Given the description of an element on the screen output the (x, y) to click on. 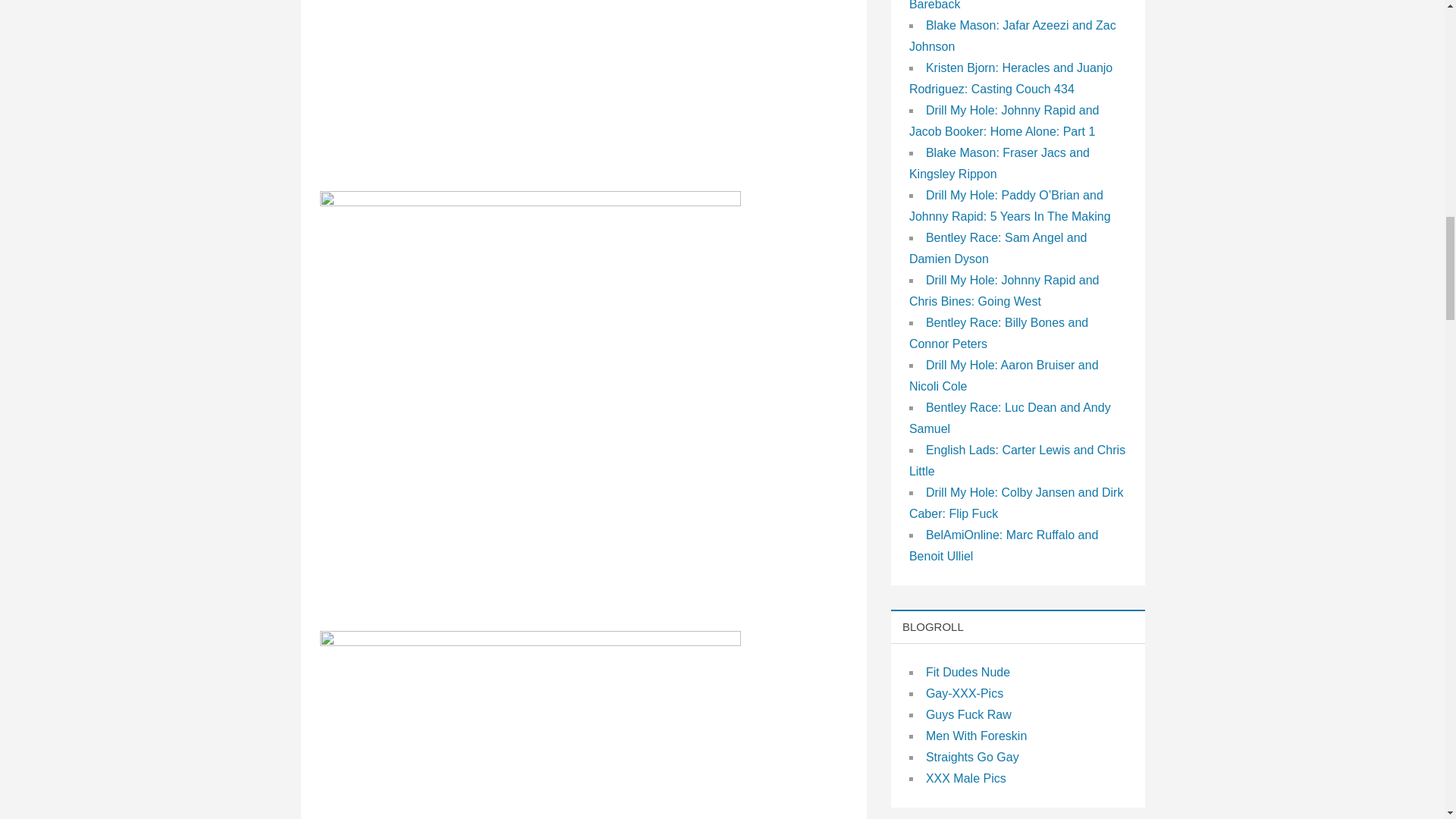
Southern Strokes: Haigan and Cole (530, 85)
Southern Strokes: Haigan and Cole (530, 724)
